Given the description of an element on the screen output the (x, y) to click on. 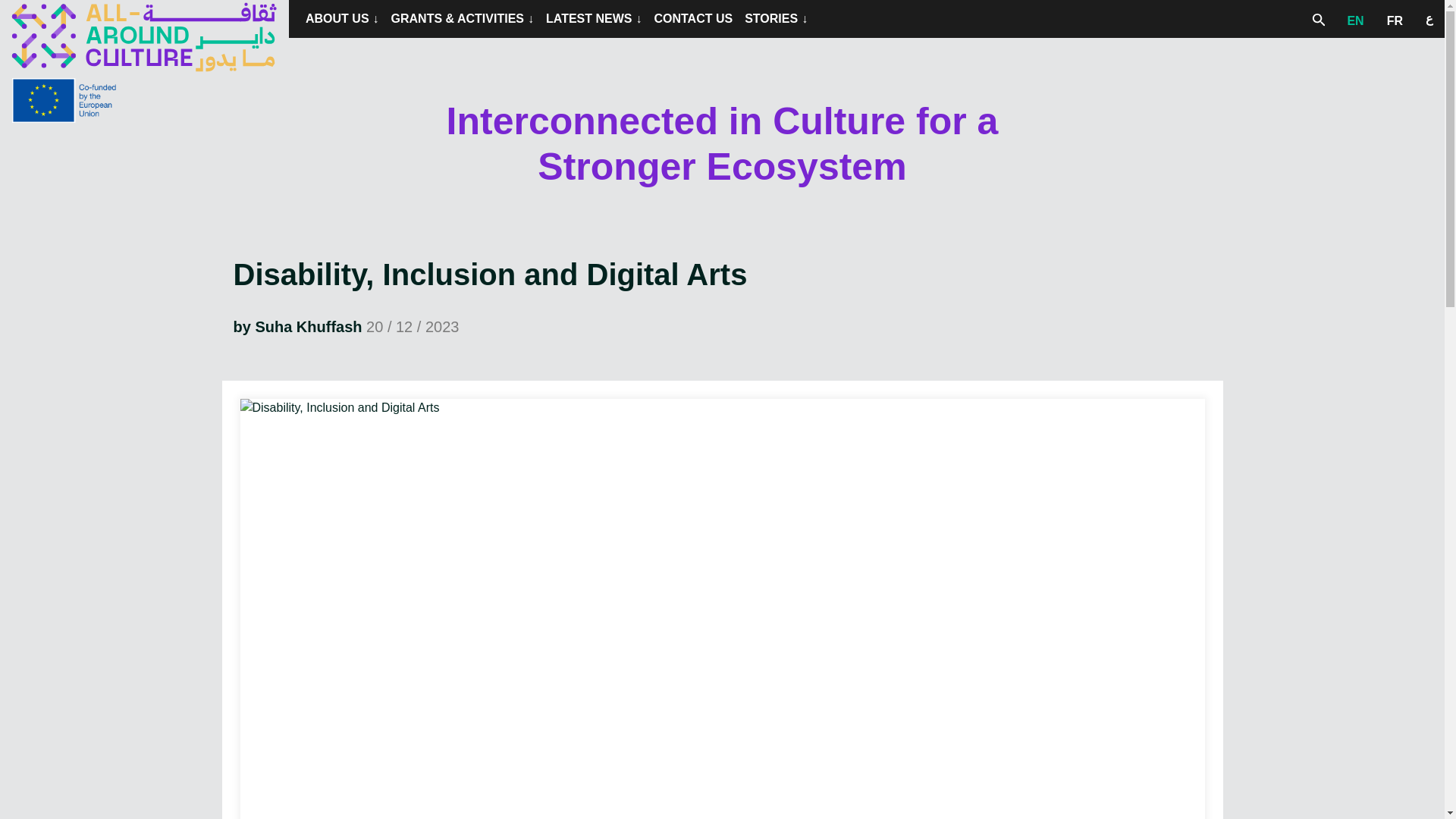
EN (1354, 19)
LATEST NEWS (593, 19)
CONTACT US (692, 19)
STORIES (775, 19)
FR (1394, 19)
ABOUT US (342, 19)
All-Around Culture (144, 37)
